Given the description of an element on the screen output the (x, y) to click on. 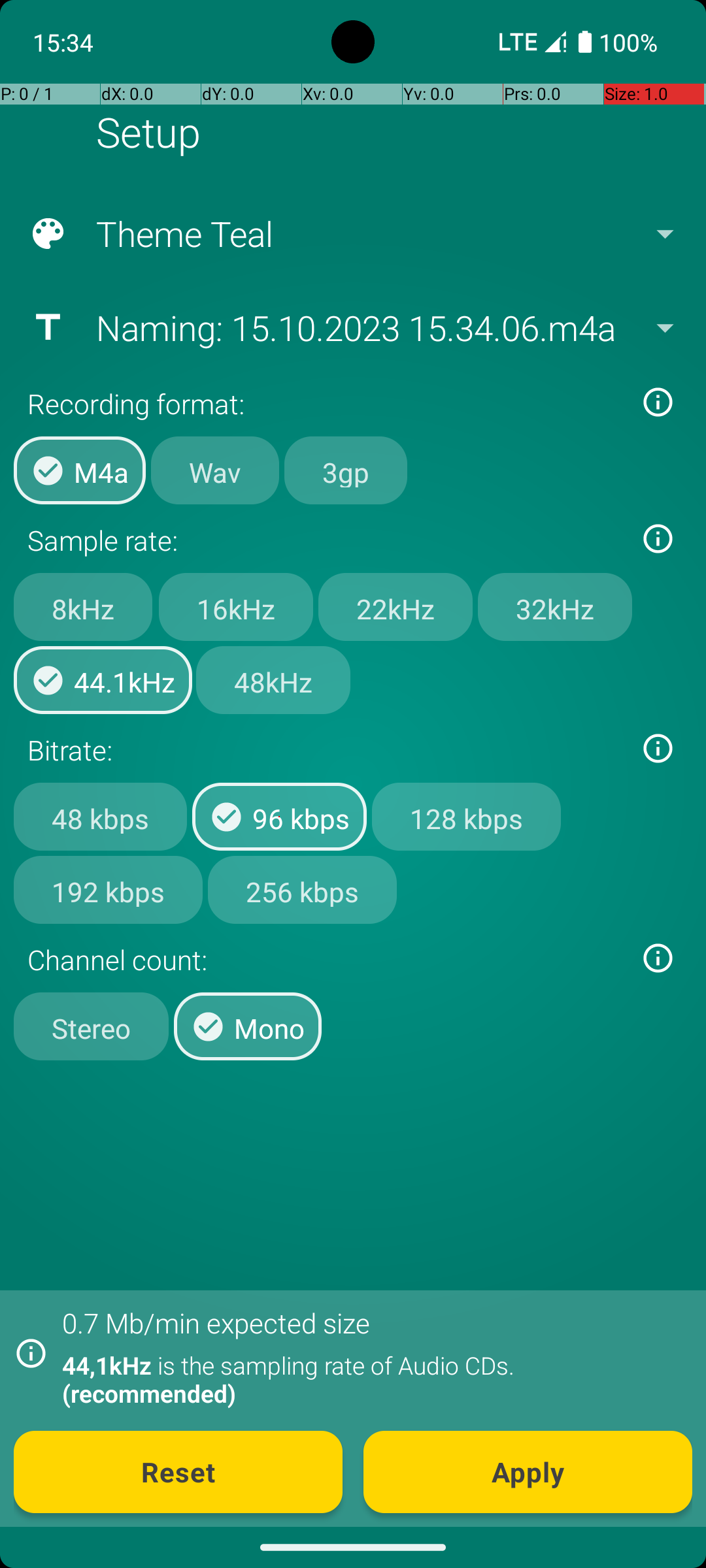
0.7 Mb/min expected size Element type: android.widget.TextView (215, 1322)
44,1kHz is the sampling rate of Audio CDs. (recommended) Element type: android.widget.TextView (370, 1378)
Theme Teal Element type: android.widget.TextView (352, 233)
Naming: 15.10.2023 15.34.06.m4a Element type: android.widget.TextView (352, 327)
